Given the description of an element on the screen output the (x, y) to click on. 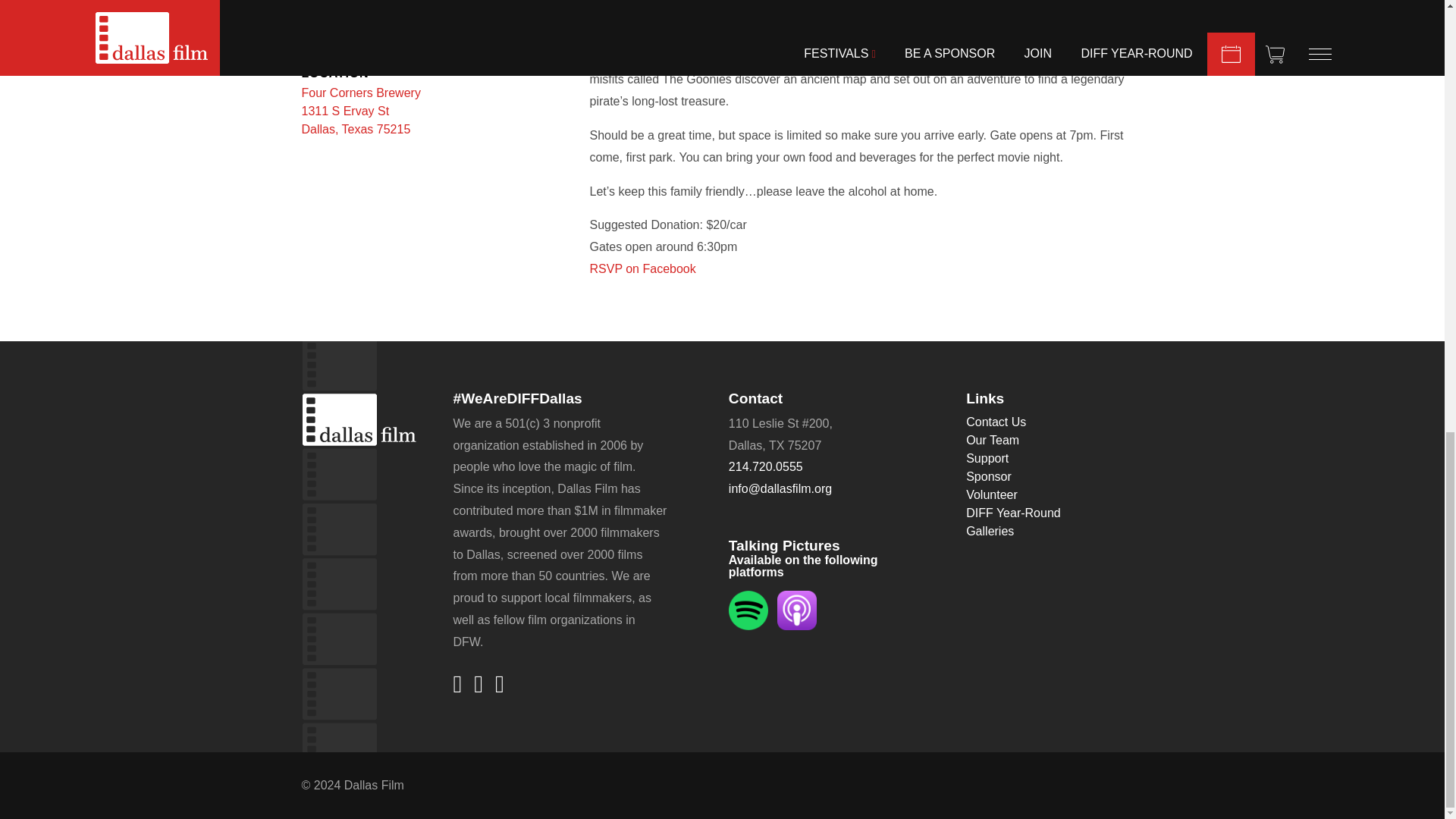
RSVP on Facebook (642, 268)
Listen to Talking Pictures on Spotify (360, 110)
Listen to Talking Pictures on Apple Podcasts (748, 608)
214.720.0555 (796, 608)
